Given the description of an element on the screen output the (x, y) to click on. 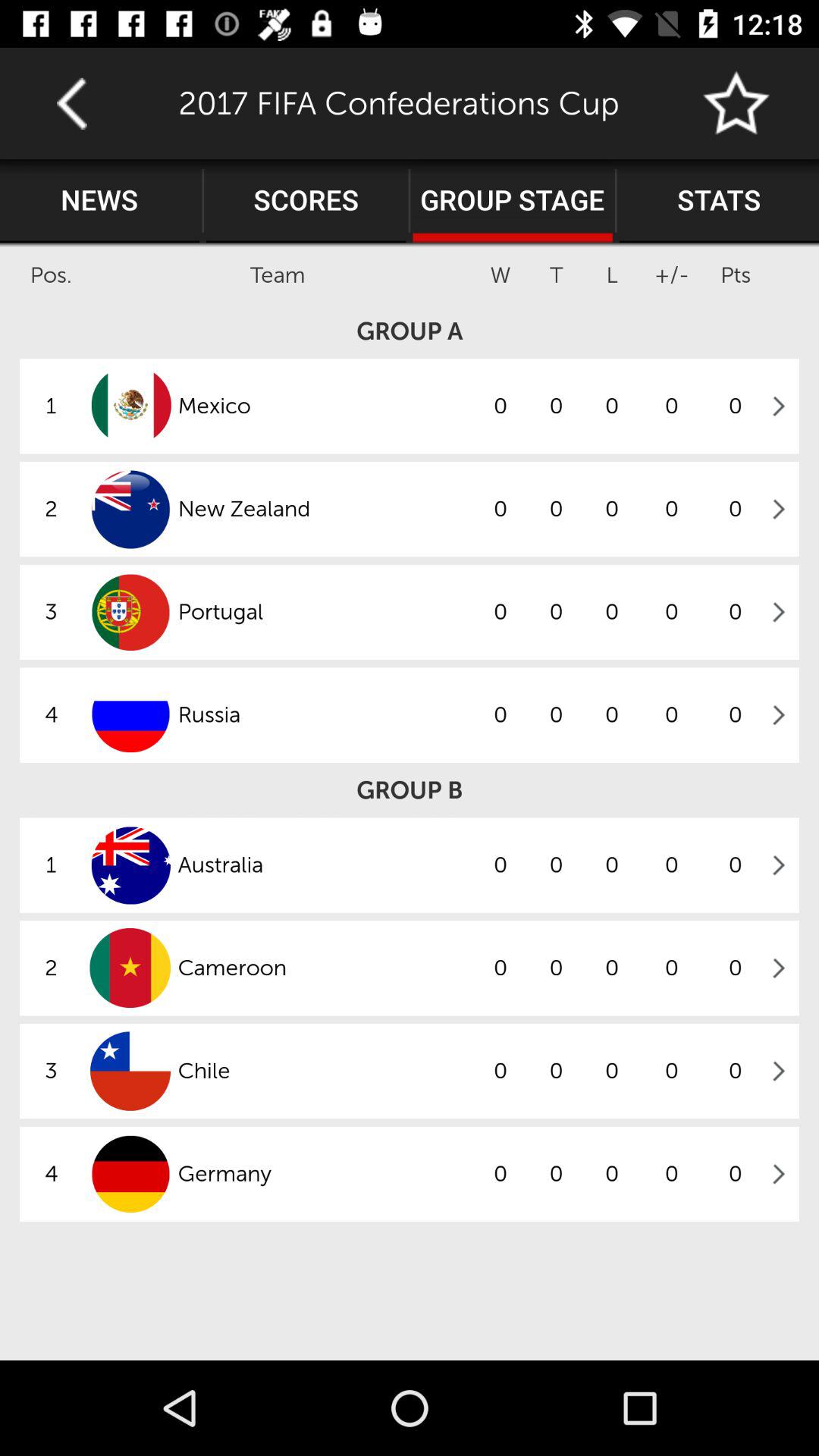
choose the item above stats icon (736, 103)
